Given the description of an element on the screen output the (x, y) to click on. 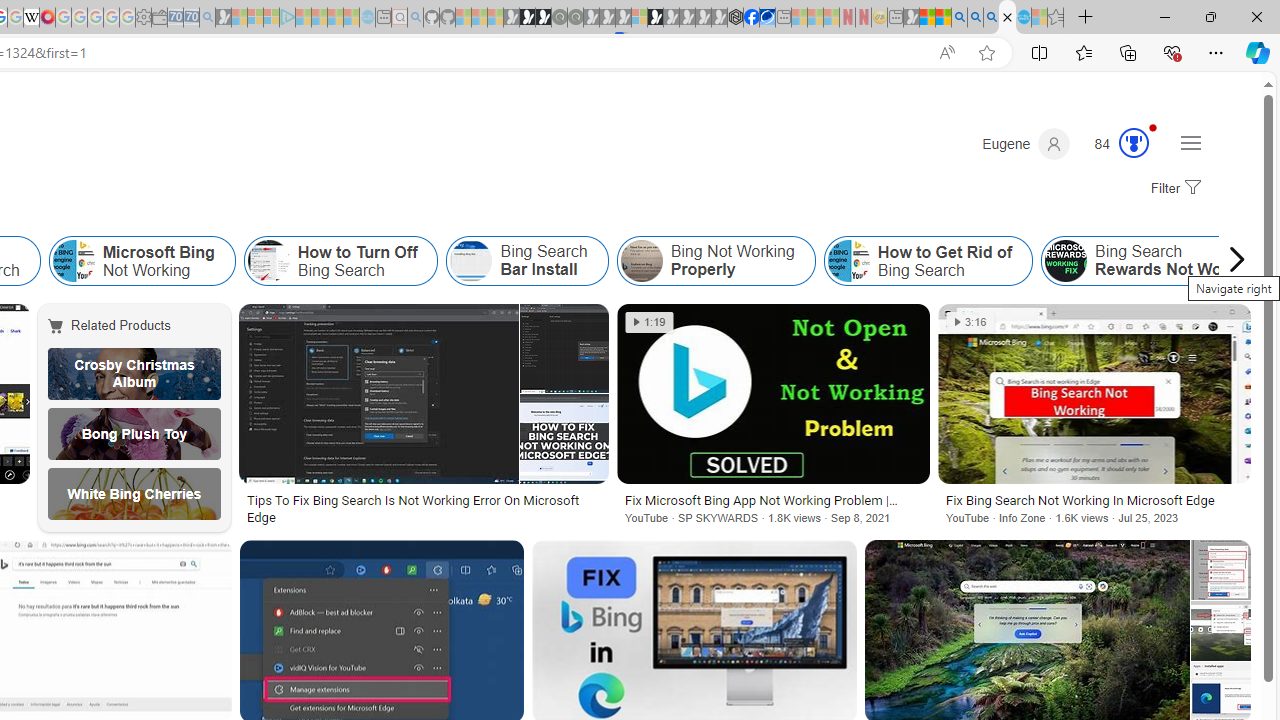
White Bing Cherries (134, 493)
Microsoft Bing Not Working (141, 260)
Bing Search Rewards Not Working (1066, 260)
Nordace | Facebook (751, 17)
Future Focus Report 2024 - Sleeping (575, 17)
How to Get Rid of Bing Search (928, 260)
White Bing Cherries (134, 493)
MSN - Sleeping (911, 17)
Sign in to your account - Sleeping (639, 17)
